Given the description of an element on the screen output the (x, y) to click on. 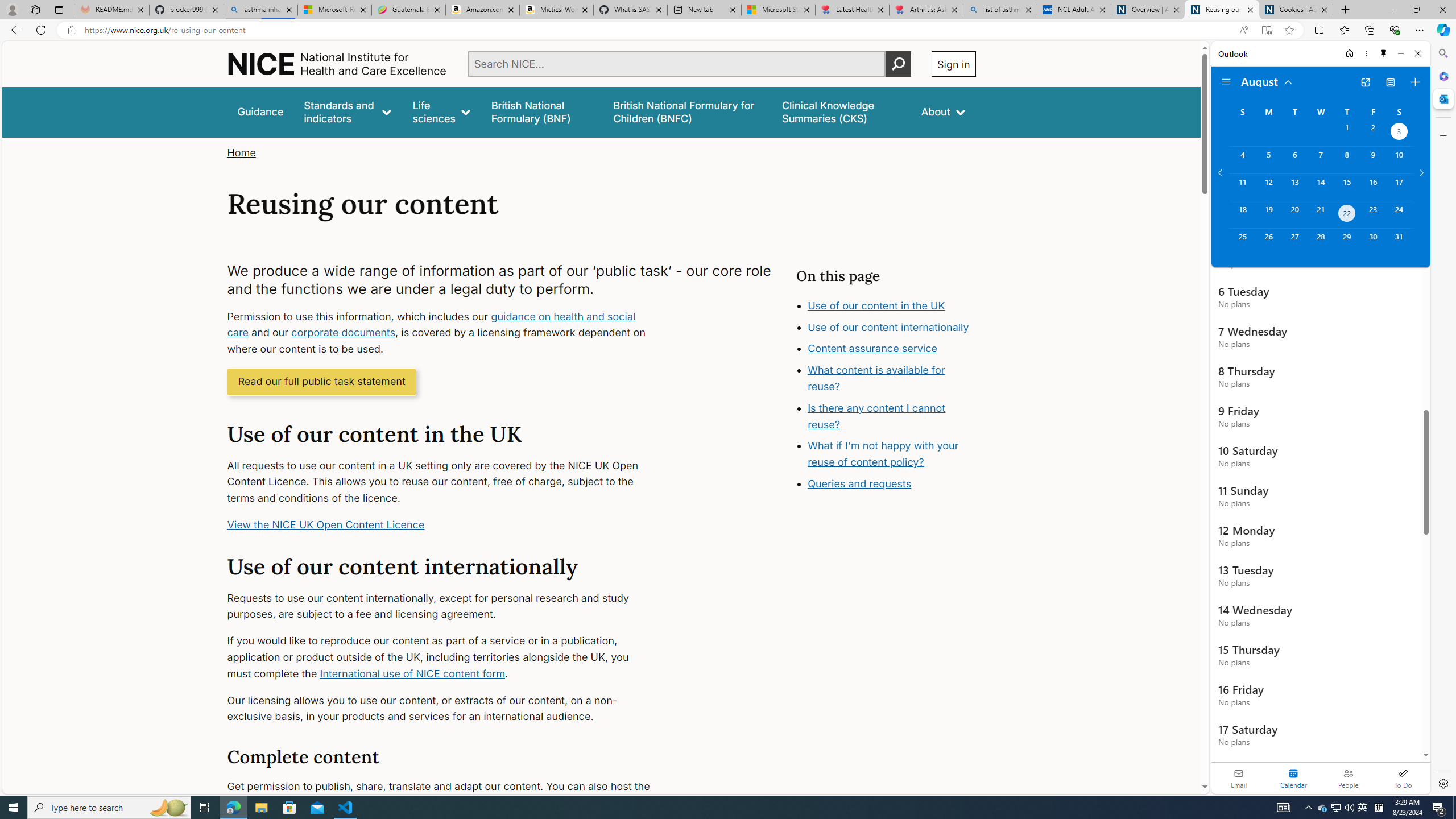
Reusing our content | NICE (1221, 9)
Wednesday, August 14, 2024.  (1320, 186)
What if I'm not happy with your reuse of content policy? (883, 453)
People (1347, 777)
Friday, August 30, 2024.  (1372, 241)
British National Formulary for Children (BNFC) (686, 111)
Perform search (898, 63)
